Given the description of an element on the screen output the (x, y) to click on. 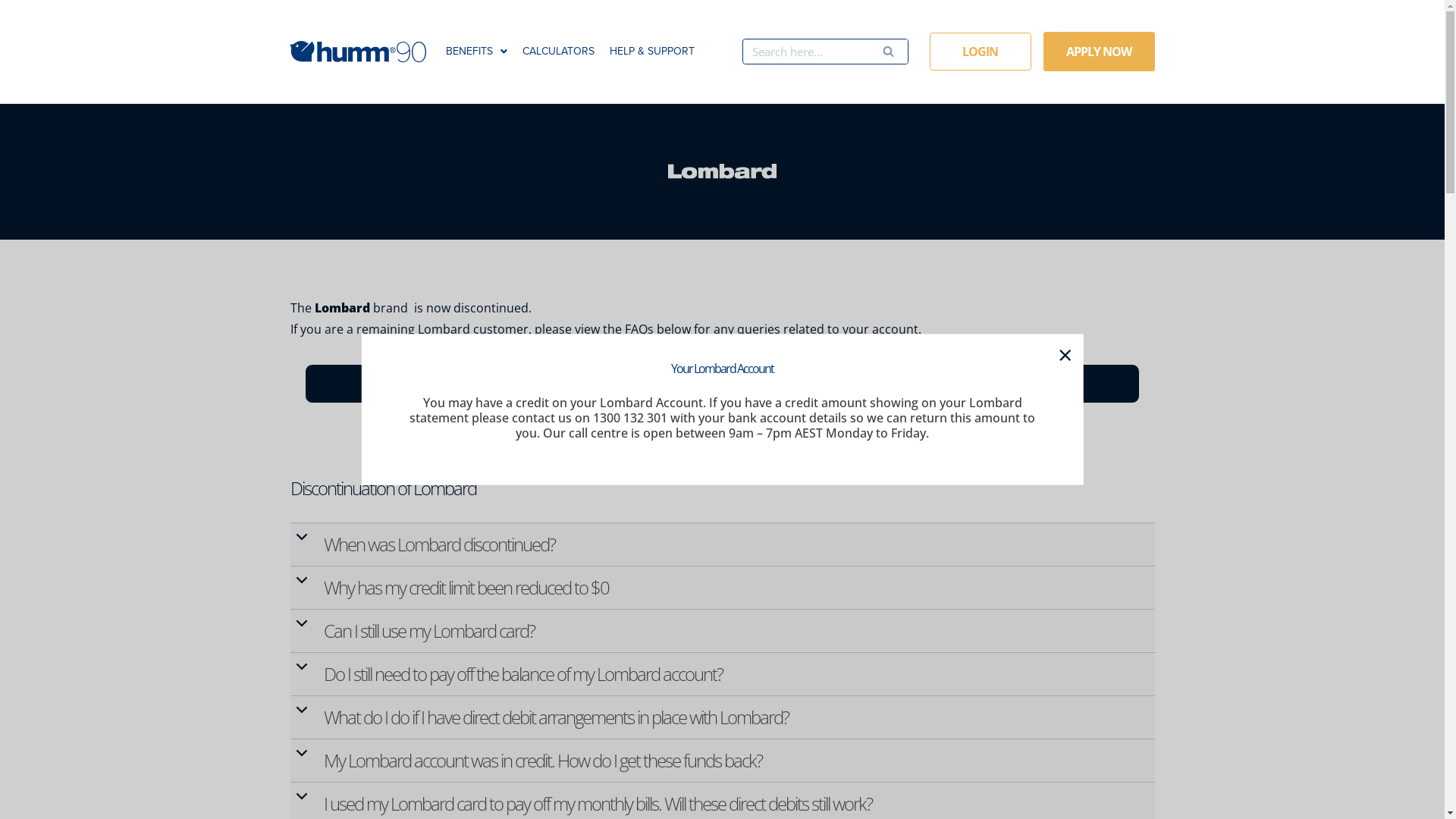
b
Can I still use my Lombard card? Element type: text (723, 630)
Customer Login Element type: text (434, 383)
Previous Page Element type: text (52, 18)
b
Why has my credit limit been reduced to $0 Element type: text (723, 587)
Compliments & Complaints Element type: text (721, 383)
b
When was Lombard discontinued? Element type: text (723, 544)
LOGIN Element type: text (980, 51)
Financial hardship Element type: text (1009, 383)
APPLY NOW Element type: text (1098, 51)
BENEFITS Element type: text (476, 51)
Next Page Element type: text (43, 18)
CALCULATORS Element type: text (557, 51)
HELP & SUPPORT Element type: text (651, 51)
